Given the description of an element on the screen output the (x, y) to click on. 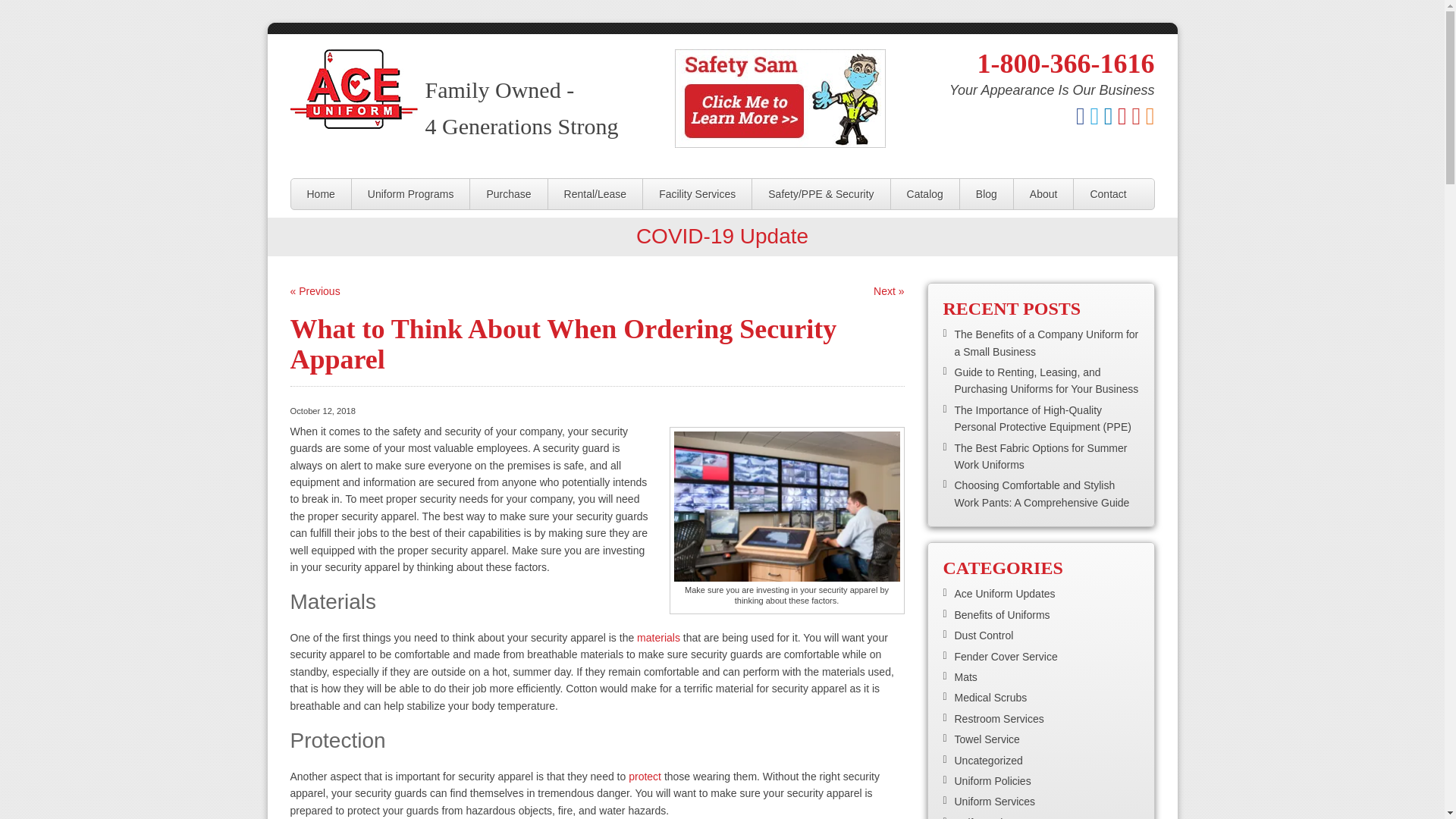
Catalog (925, 194)
1-800-366-1616 (1065, 63)
Facility Services (697, 194)
Home (320, 194)
Blog (986, 194)
Contact (1107, 194)
Uniform Programs (411, 194)
Purchase (508, 194)
COVID-19 Update (722, 236)
About (1043, 194)
